Given the description of an element on the screen output the (x, y) to click on. 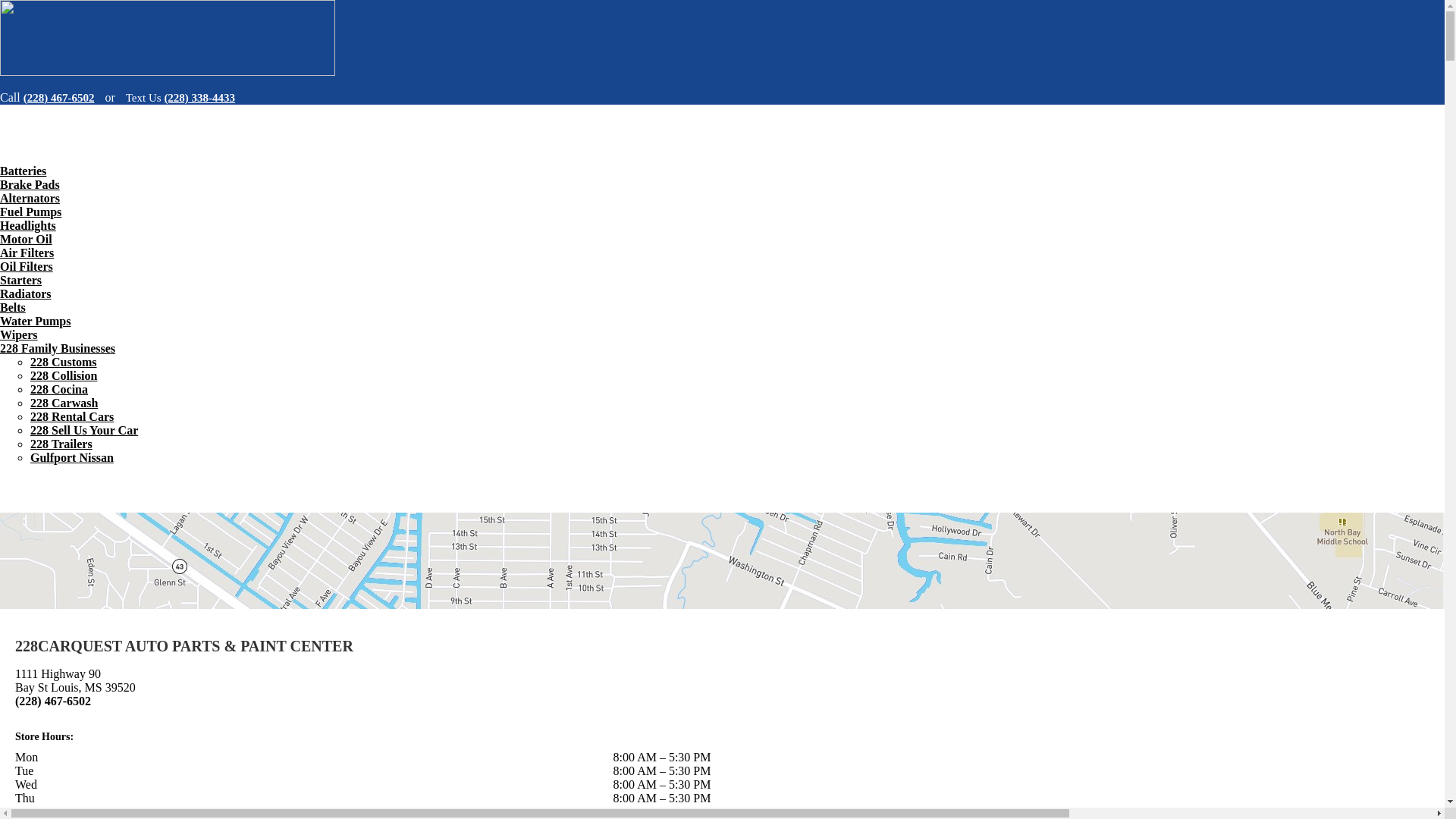
Starters Element type: text (20, 279)
Fuel Pumps Element type: text (30, 211)
228 Trailers Element type: text (61, 443)
(228) 338-4433 Element type: text (199, 97)
Air Filters Element type: text (26, 252)
Brake Pads Element type: text (29, 184)
228 Family Businesses Element type: text (57, 348)
Water Pumps Element type: text (35, 320)
Motor Oil Element type: text (26, 238)
228 Sell Us Your Car Element type: text (84, 429)
CQ_header_logo.e4de8e4e Element type: hover (167, 37)
Belts Element type: text (12, 307)
(228) 467-6502 Element type: text (62, 97)
Radiators Element type: text (25, 293)
228 Carwash Element type: text (63, 402)
Alternators Element type: text (29, 197)
228 Collision Element type: text (63, 375)
Oil Filters Element type: text (26, 266)
228 Customs Element type: text (63, 361)
228 Cocina Element type: text (58, 388)
Batteries Element type: text (23, 170)
Headlights Element type: text (28, 225)
228 Rental Cars Element type: text (71, 416)
Gulfport Nissan Element type: text (71, 457)
Wipers Element type: text (18, 334)
